Given the description of an element on the screen output the (x, y) to click on. 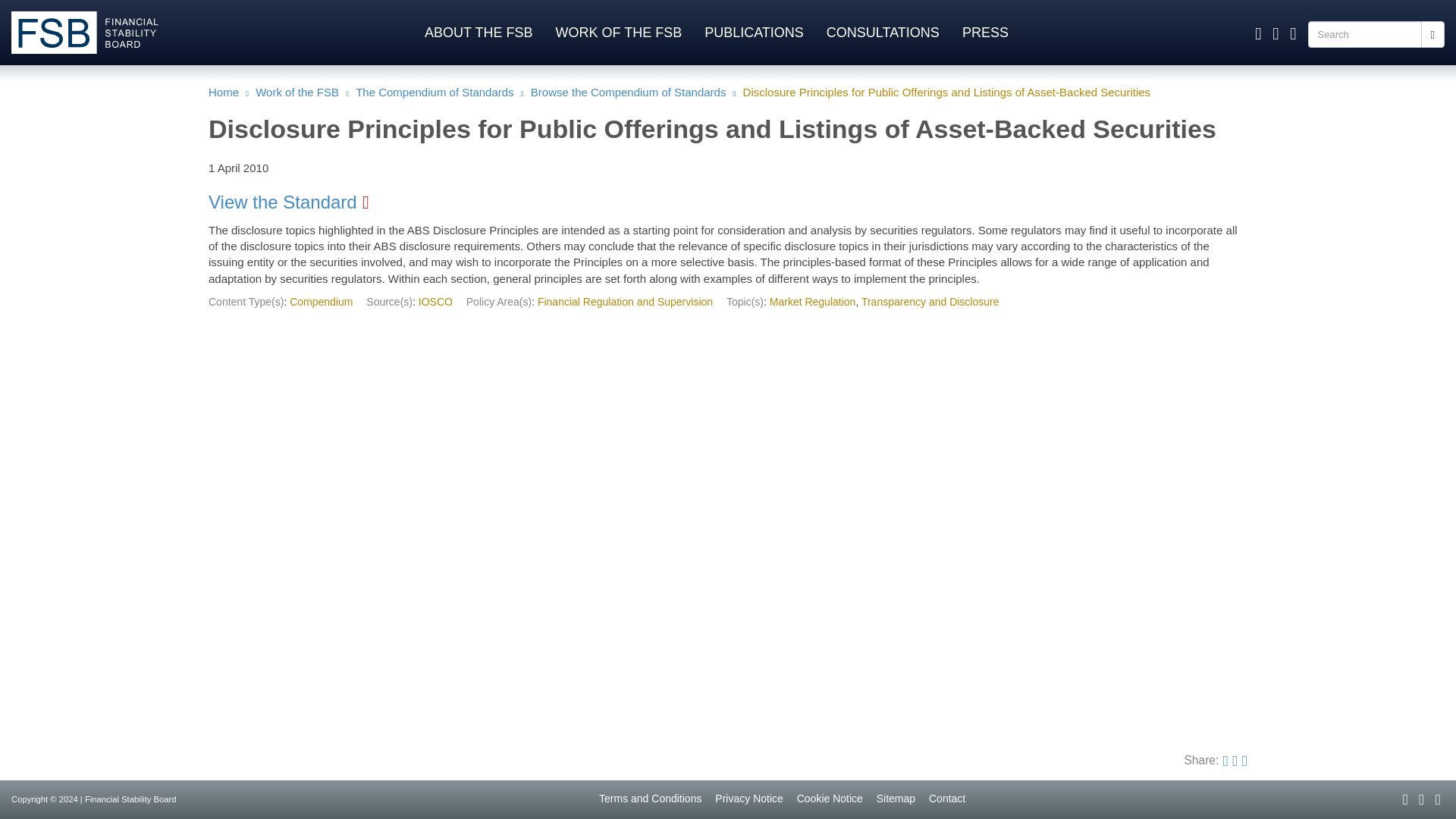
PUBLICATIONS (754, 30)
Go to Browse the Compendium of Standards. (628, 91)
Home (93, 32)
Go to The Compendium of Standards. (434, 91)
International Organization of Securities Commissions (435, 301)
ABOUT THE FSB (478, 30)
Go to Work of the FSB. (297, 91)
WORK OF THE FSB (618, 30)
Go to Home. (223, 91)
